Given the description of an element on the screen output the (x, y) to click on. 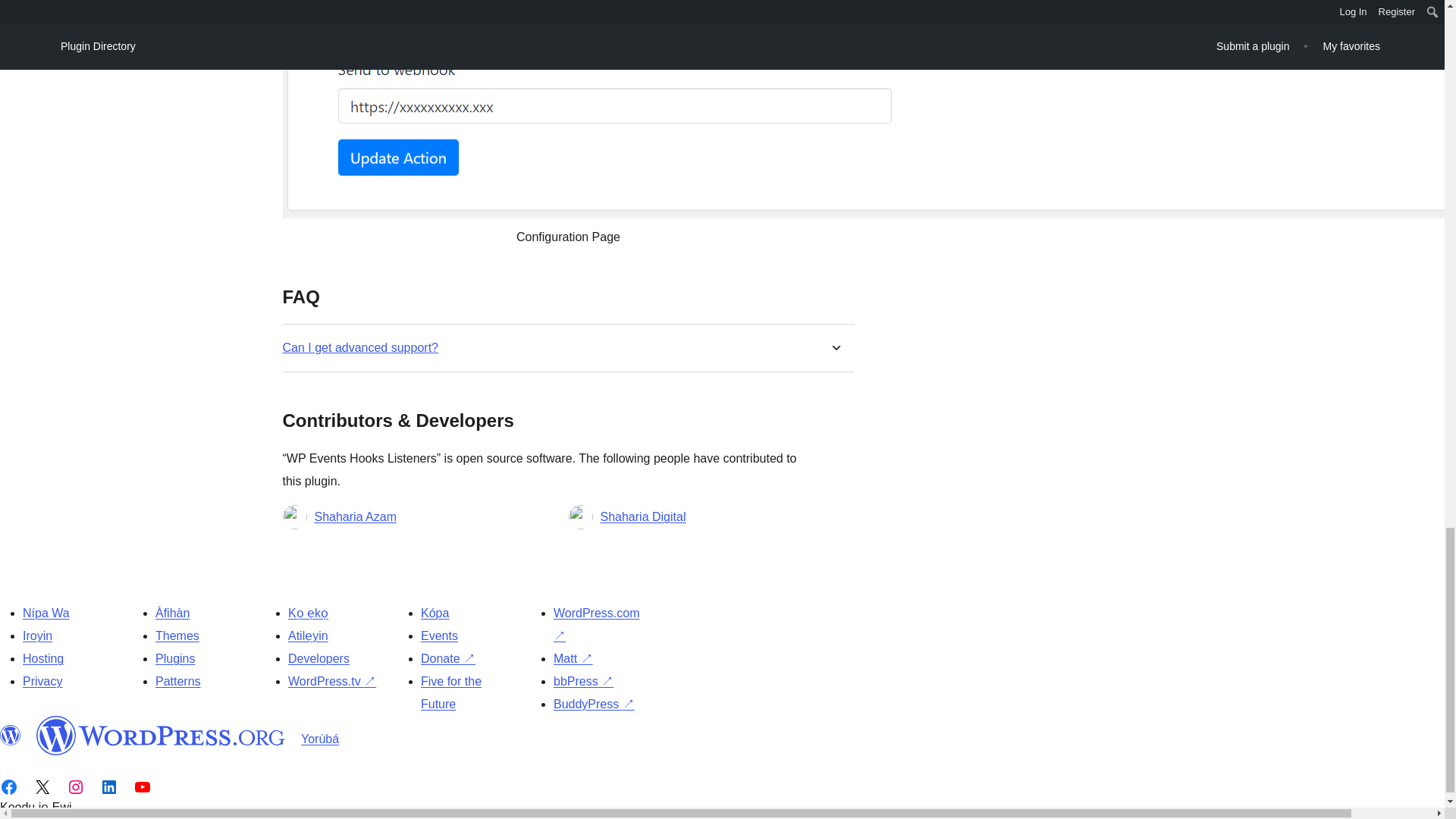
WordPress.org (10, 735)
Shaharia Azam (355, 517)
Can I get advanced support? (360, 347)
WordPress.org (160, 735)
Shaharia Digital (642, 517)
